Given the description of an element on the screen output the (x, y) to click on. 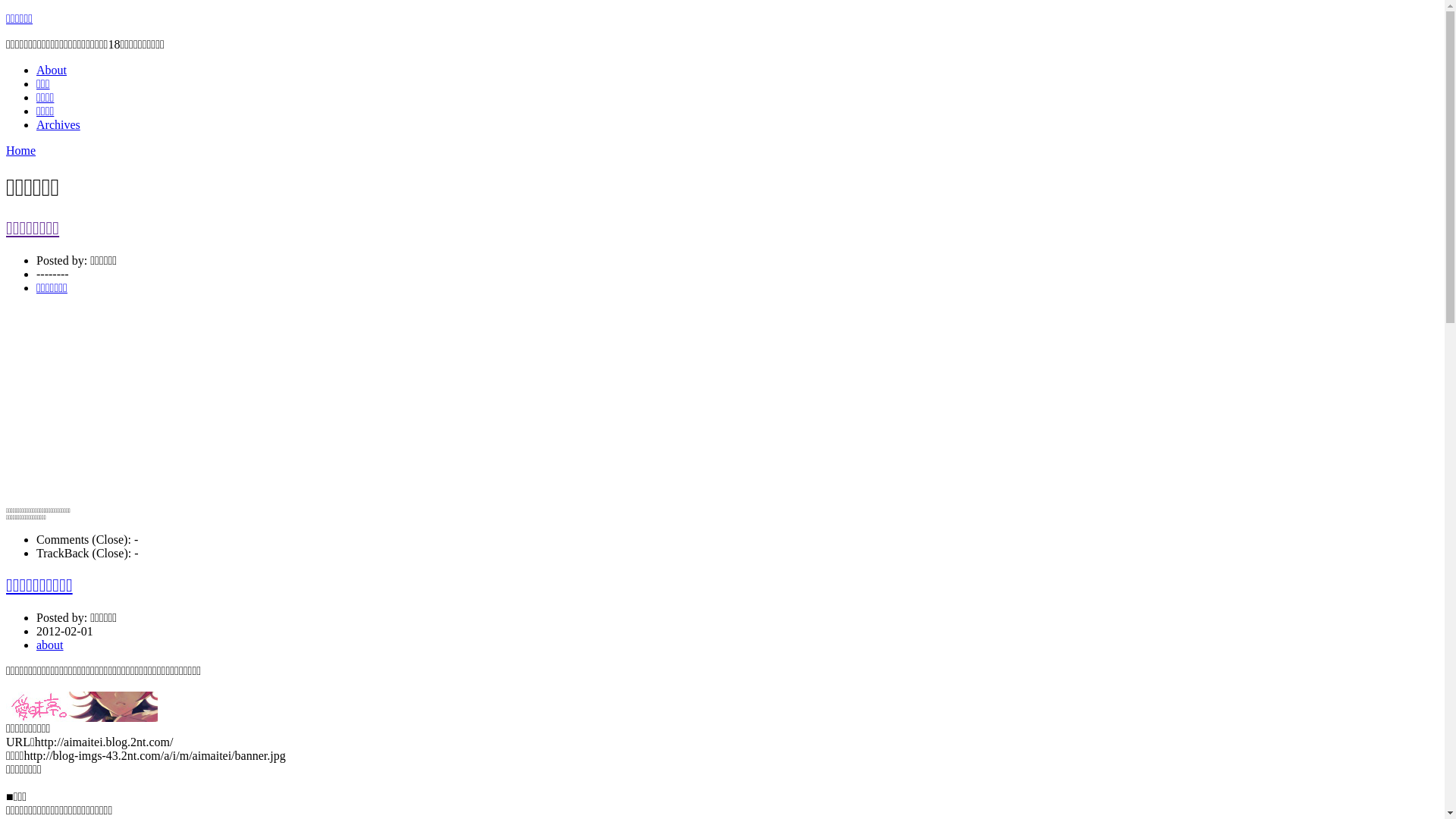
About Element type: text (51, 69)
Home Element type: text (20, 150)
Archives Element type: text (58, 124)
about Element type: text (49, 644)
